Given the description of an element on the screen output the (x, y) to click on. 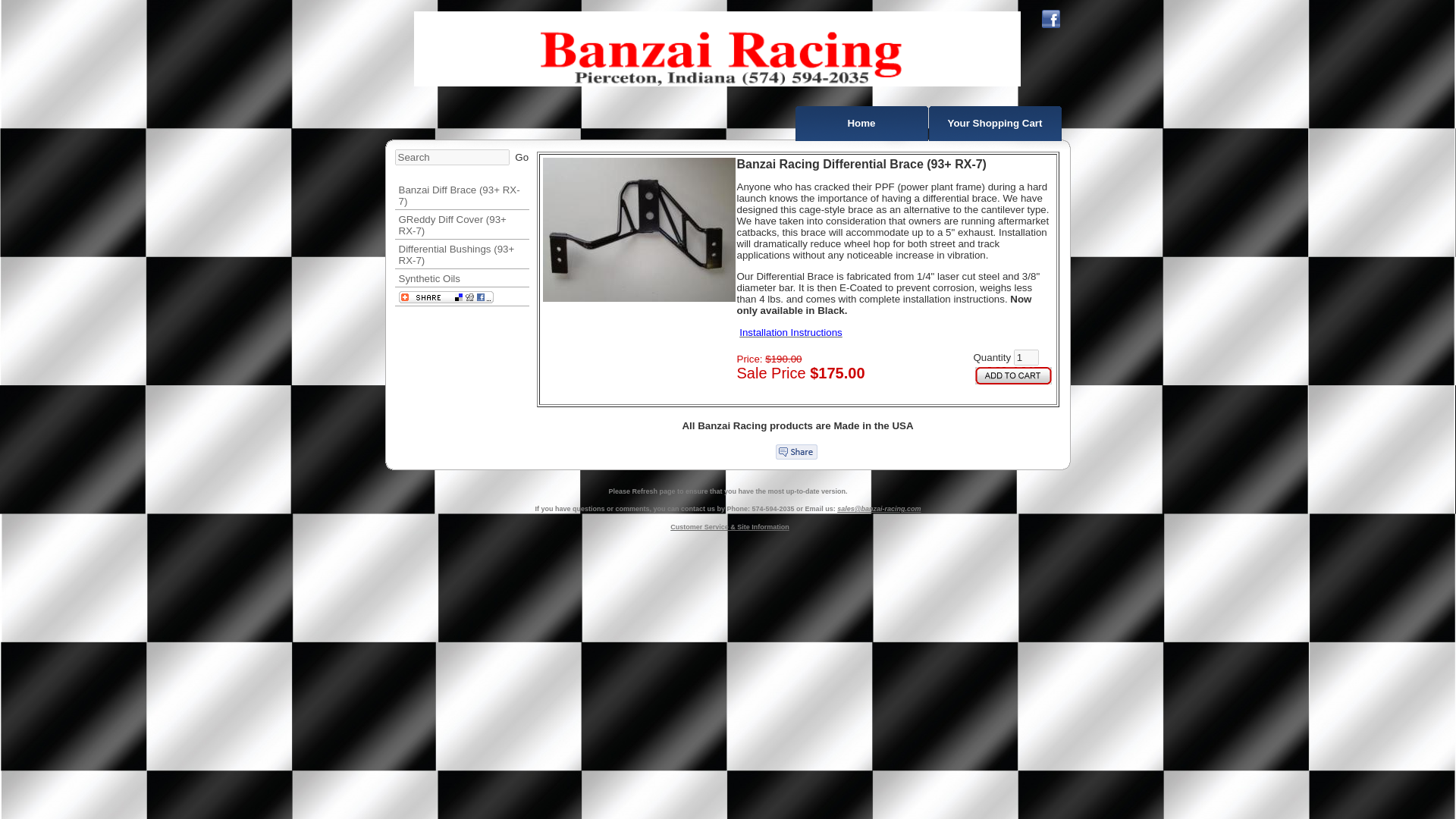
Like our Facebook Page (1051, 18)
Search (451, 157)
Home (860, 123)
Search (451, 157)
1 (1026, 357)
Banzai Racing Store (860, 123)
Go (521, 156)
Your Shopping Cart (994, 123)
Synthetic Oils (461, 278)
Share on Facebook (795, 451)
